Given the description of an element on the screen output the (x, y) to click on. 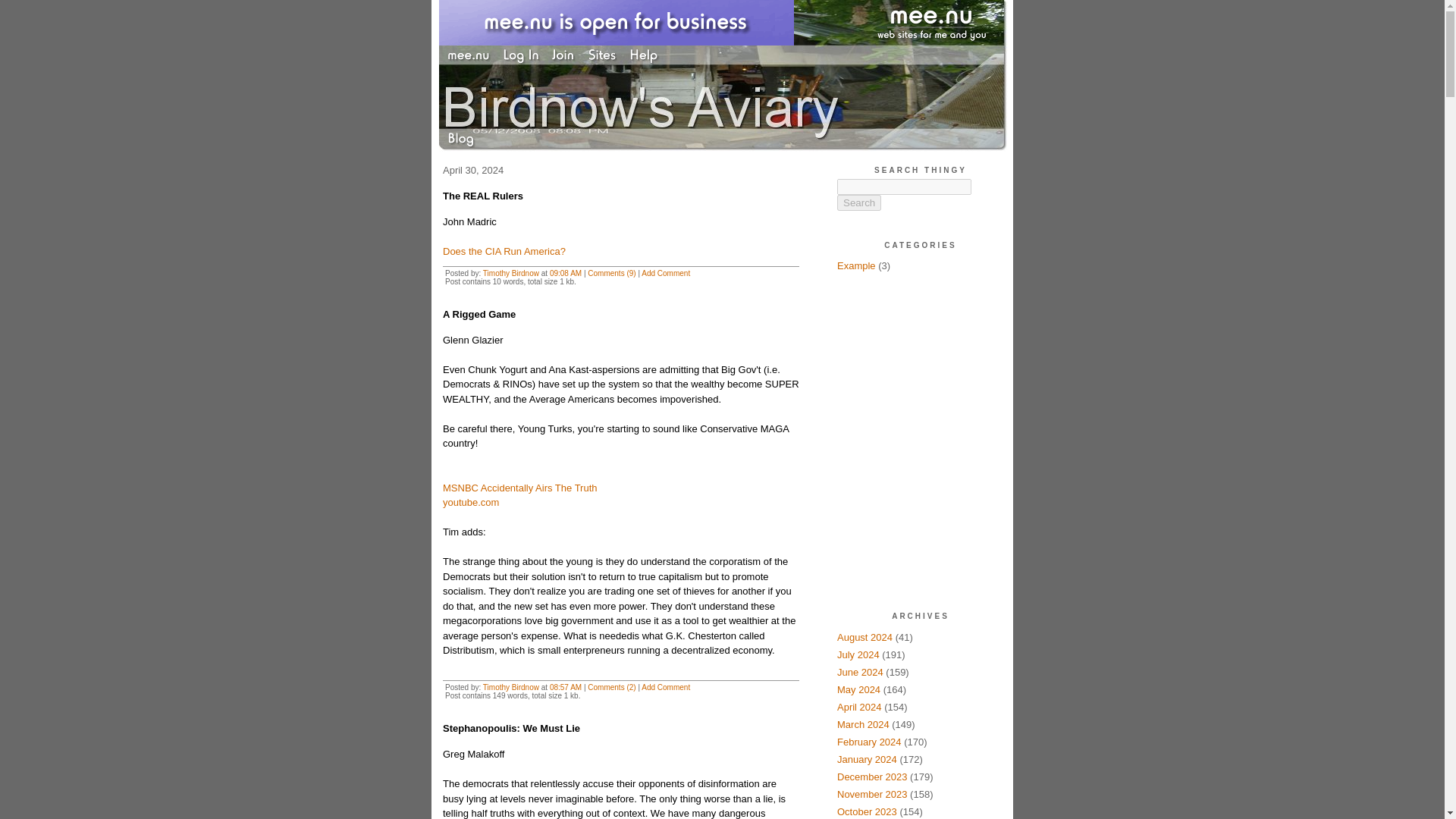
Does the CIA Run America? (504, 251)
09:08 AM (565, 273)
Timothy Birdnow (510, 273)
Search (858, 202)
Add Comment (666, 273)
